Given the description of an element on the screen output the (x, y) to click on. 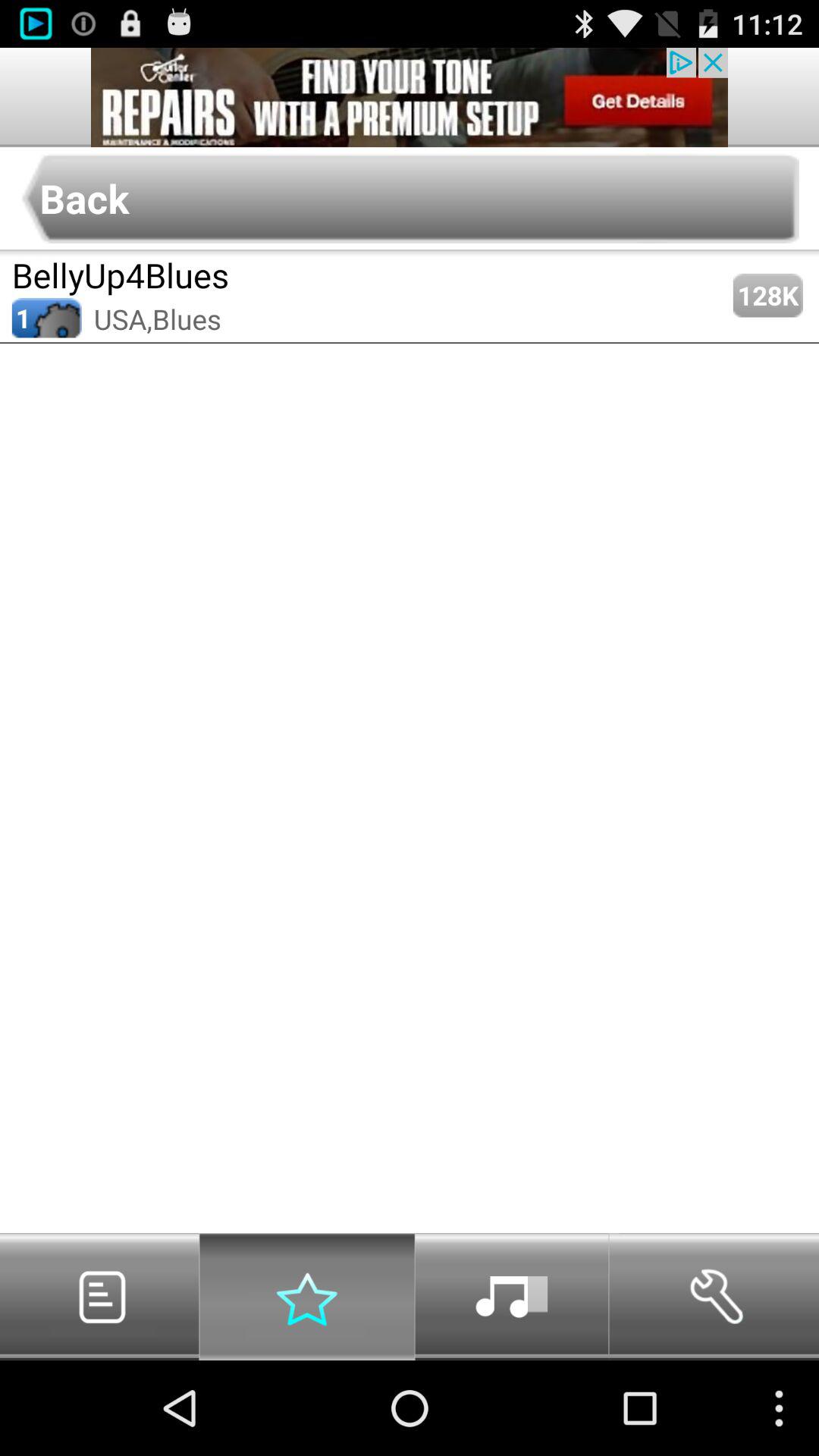
open an advertised app (409, 97)
